Given the description of an element on the screen output the (x, y) to click on. 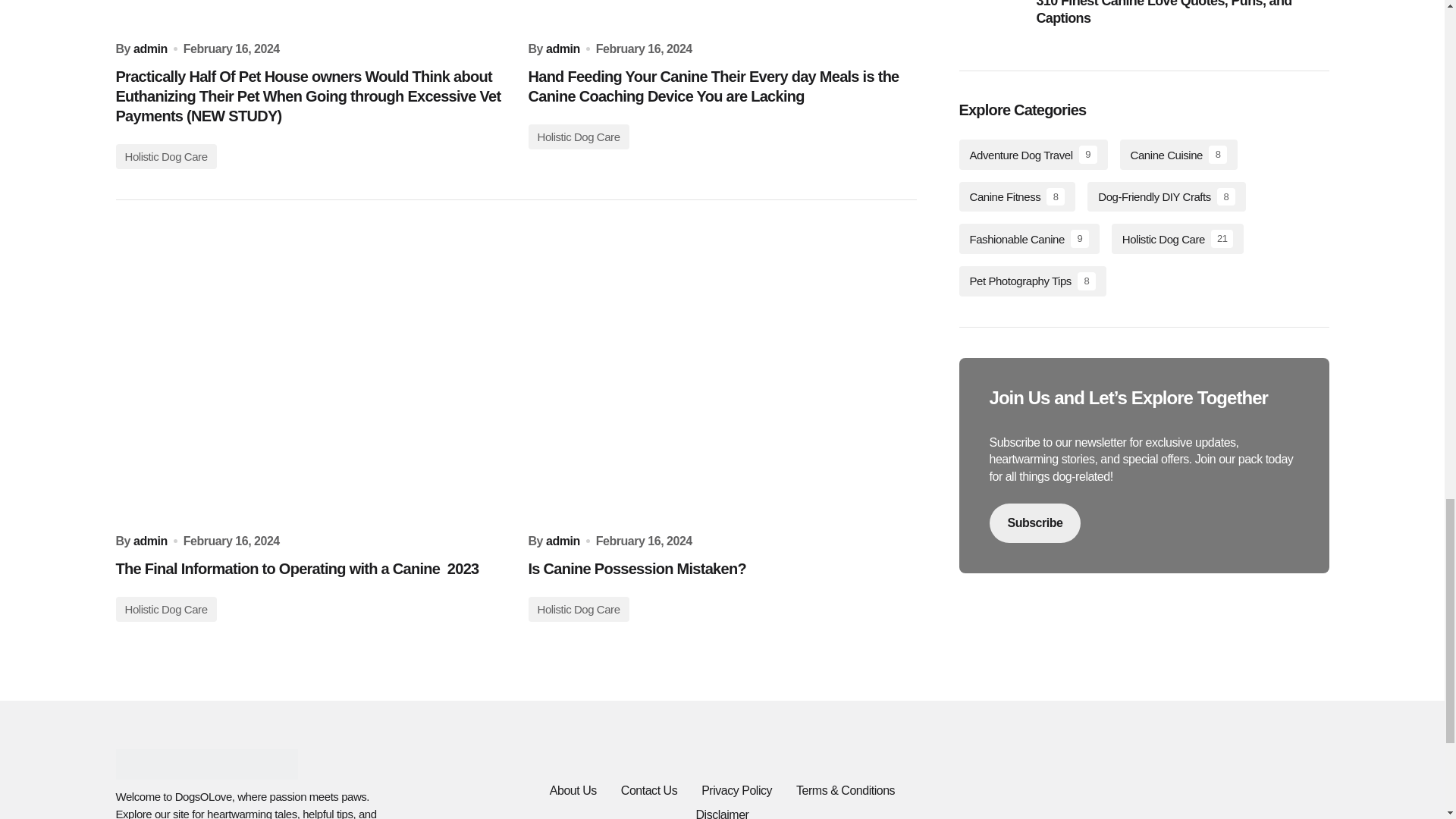
admin (150, 48)
Is Canine Possession Mistaken? (721, 375)
